Given the description of an element on the screen output the (x, y) to click on. 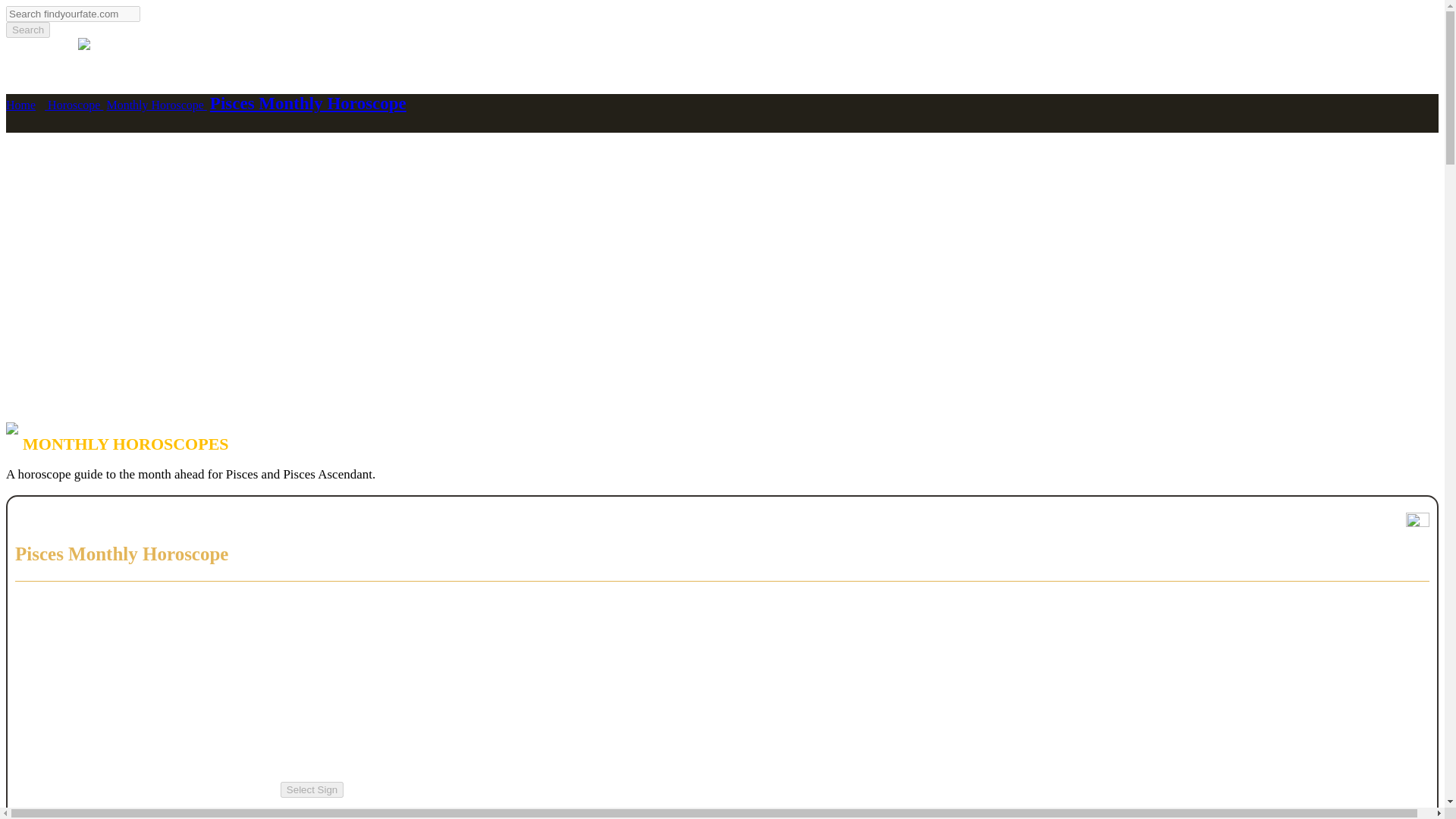
Search (27, 29)
Home (19, 104)
Horoscope (74, 104)
Monthly Horoscope (156, 104)
Pisces Monthly Horoscope (307, 103)
Search (27, 29)
Select Sign (312, 789)
Search (27, 29)
